Given the description of an element on the screen output the (x, y) to click on. 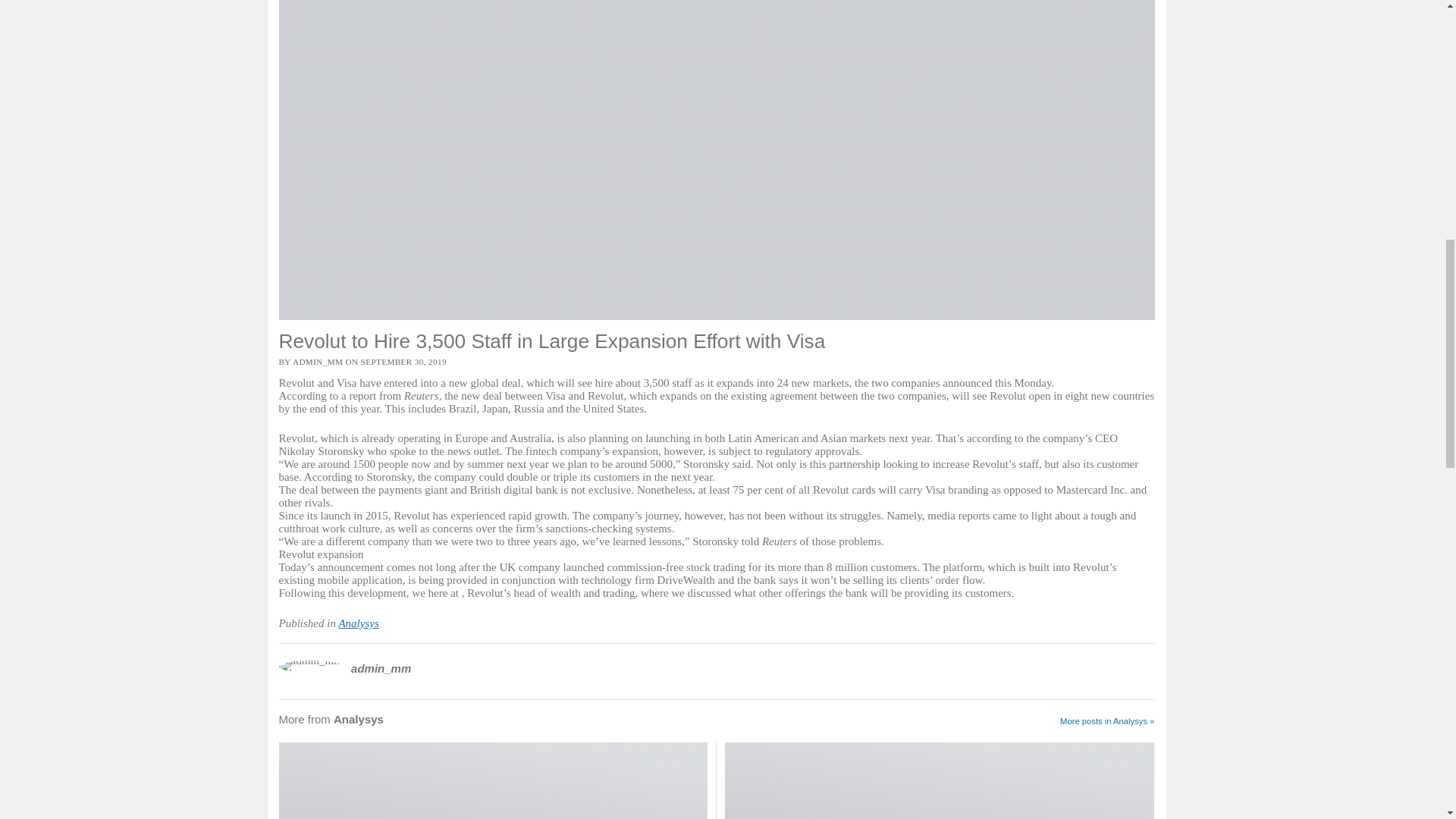
View all posts in Analysys (357, 623)
